Given the description of an element on the screen output the (x, y) to click on. 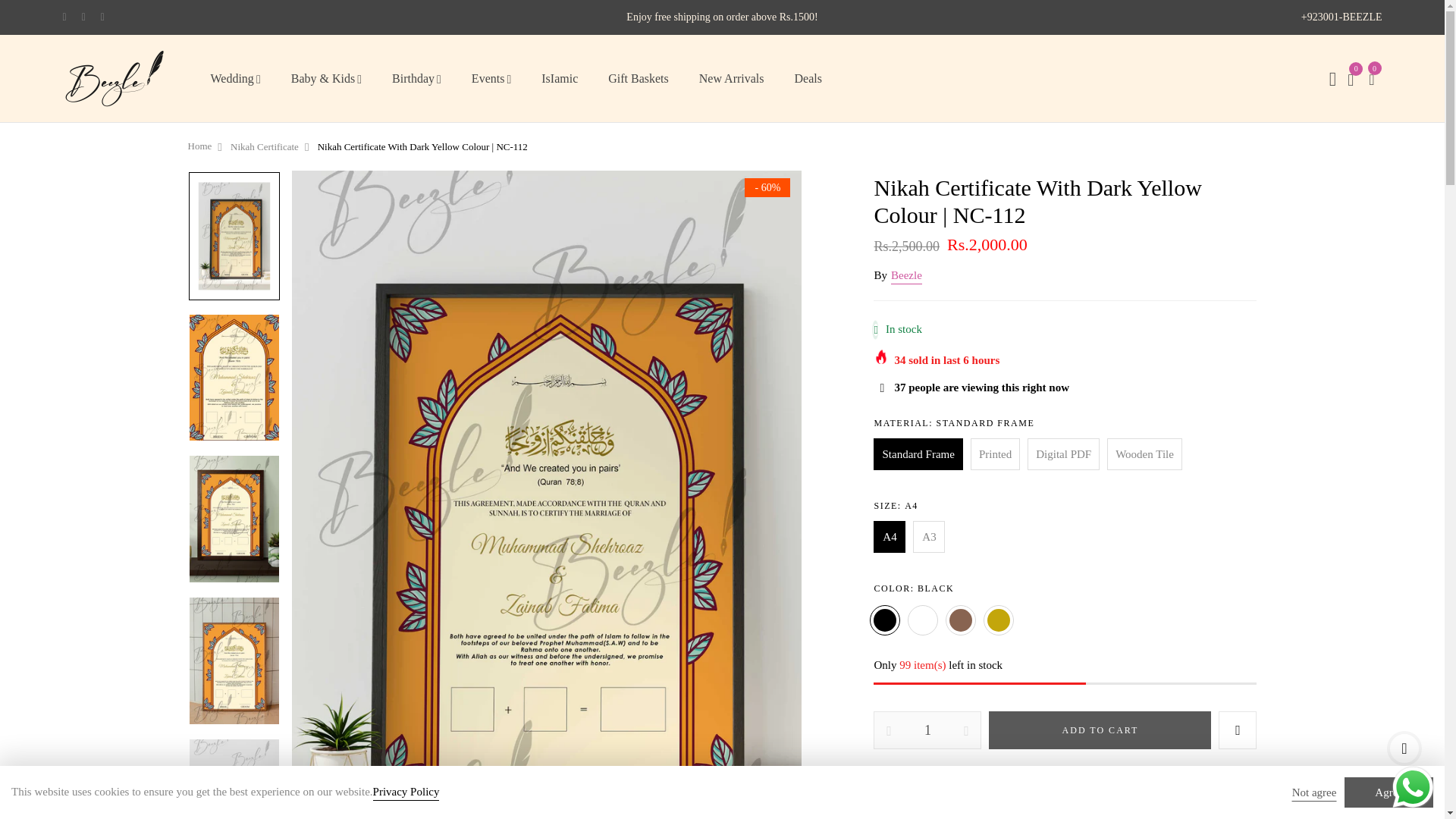
Standard Frame (917, 454)
Home (199, 146)
Nikah Certificate (264, 146)
Printed (995, 454)
1 (927, 729)
